Given the description of an element on the screen output the (x, y) to click on. 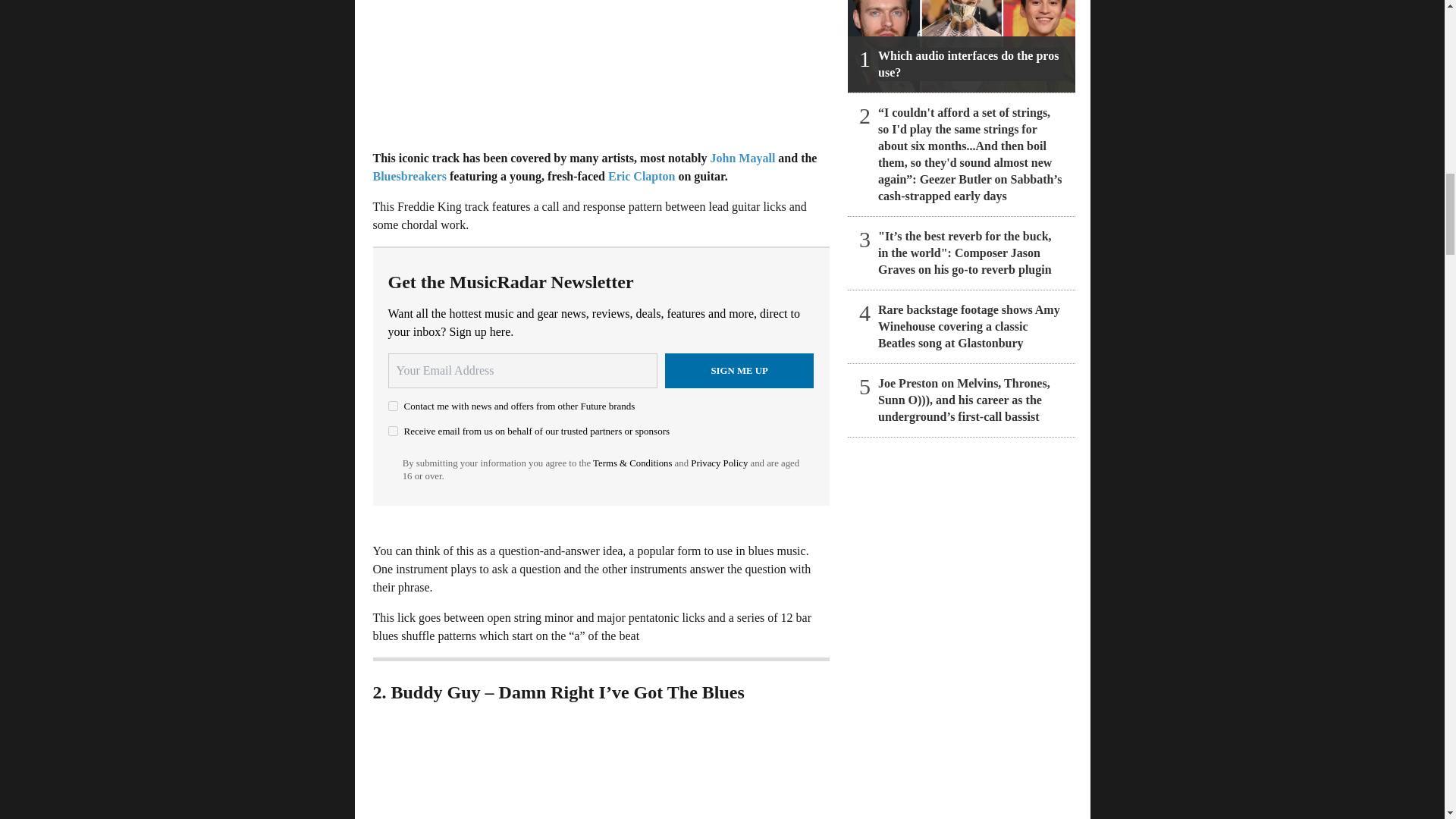
Sign me up (739, 370)
on (392, 406)
Which audio interfaces do the pros use? (961, 46)
on (392, 430)
